Given the description of an element on the screen output the (x, y) to click on. 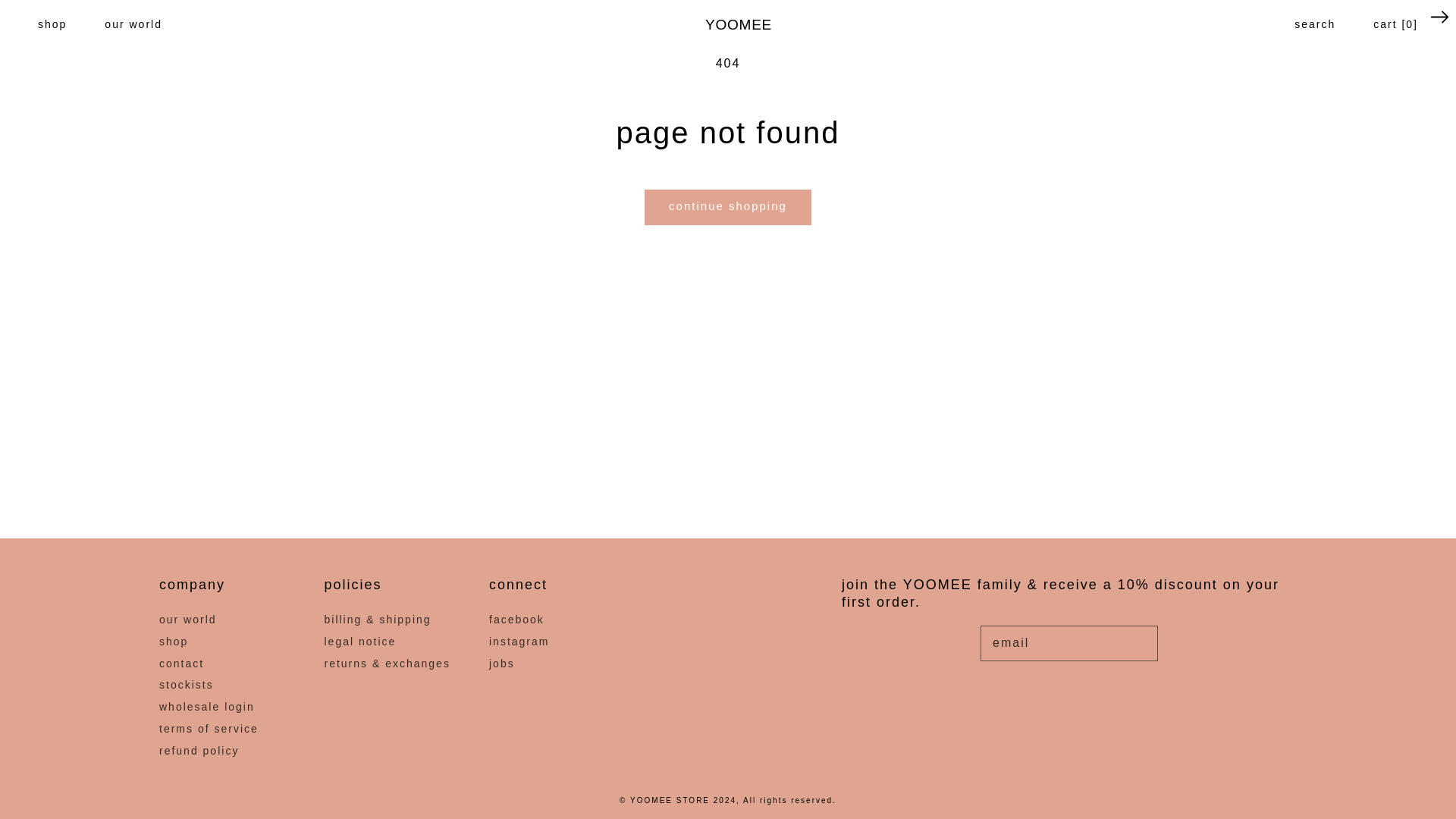
skip to content (738, 24)
search (45, 16)
shop (1314, 24)
our world (51, 24)
